Given the description of an element on the screen output the (x, y) to click on. 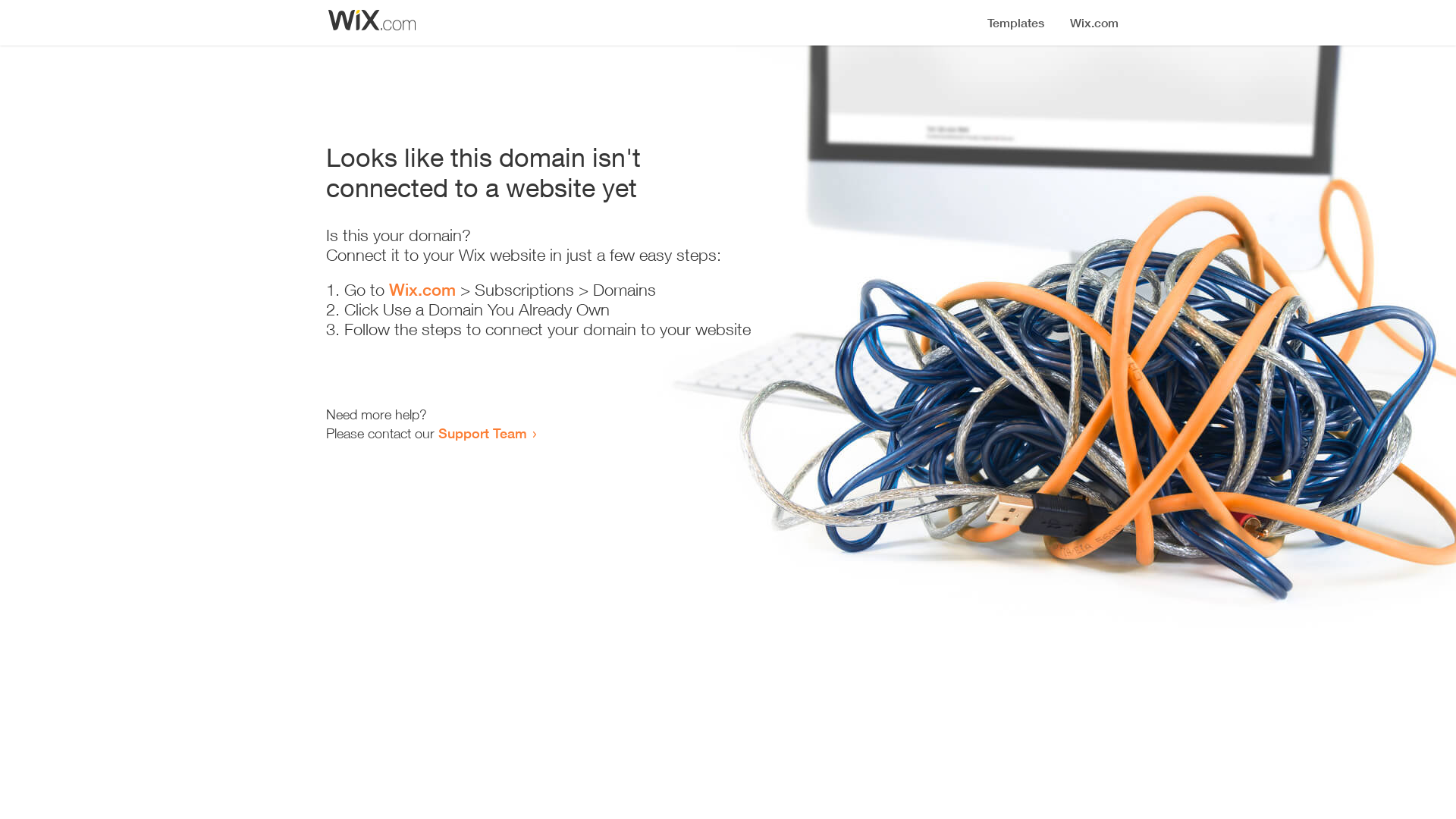
Support Team Element type: text (482, 432)
Wix.com Element type: text (422, 289)
